Given the description of an element on the screen output the (x, y) to click on. 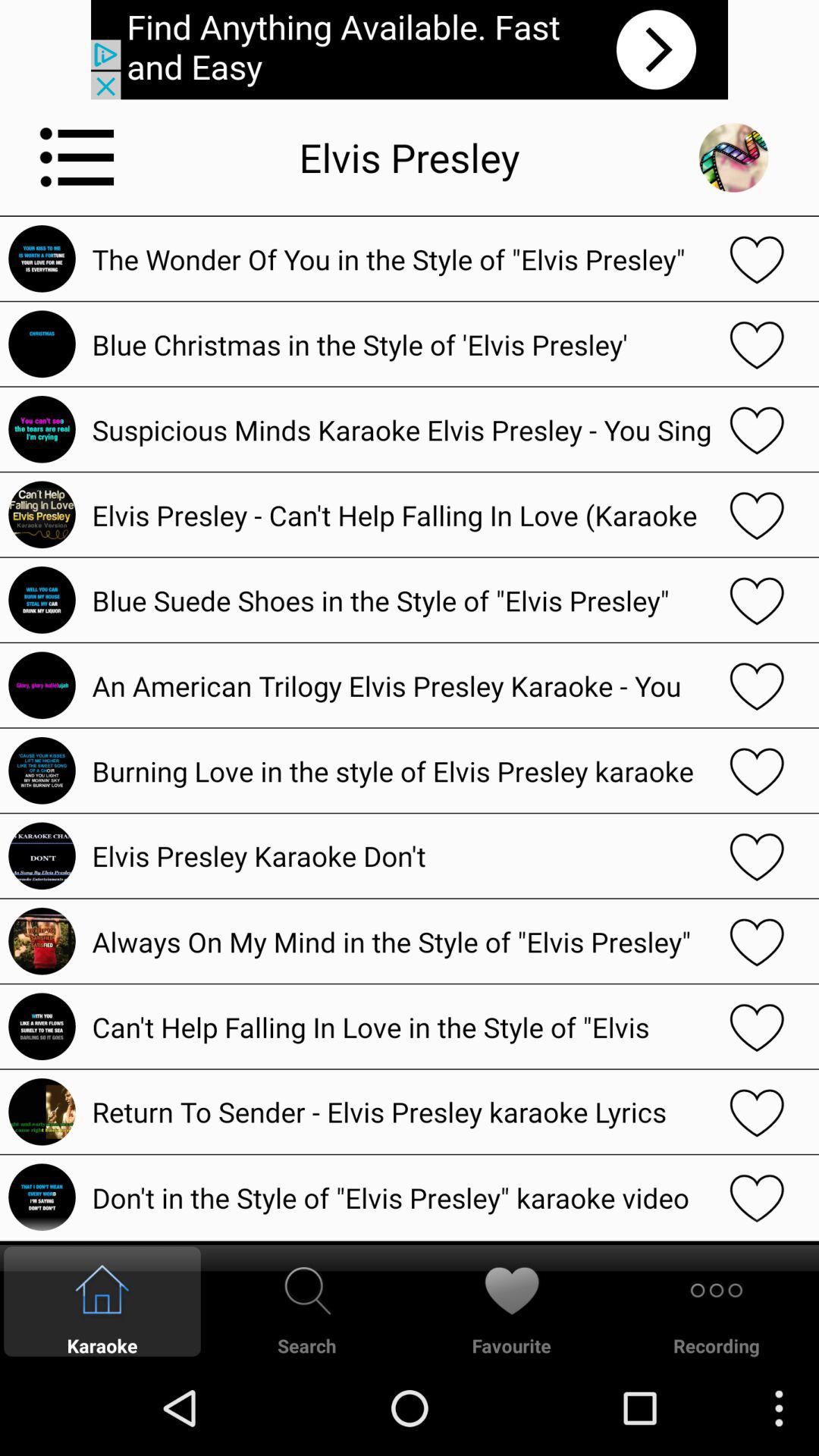
love selection (756, 685)
